Given the description of an element on the screen output the (x, y) to click on. 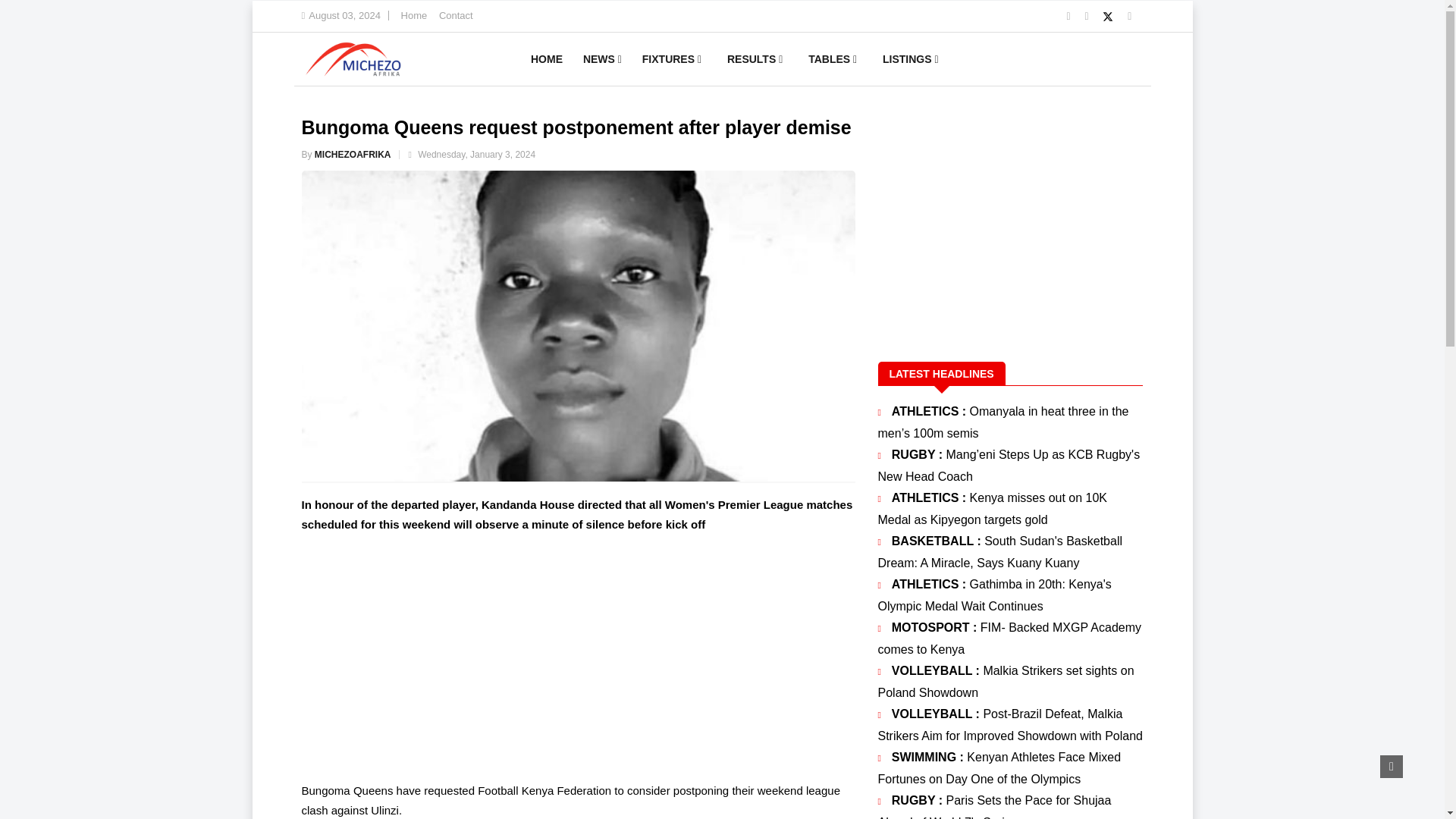
Back to Top (1391, 766)
Home (414, 15)
Advertisement (578, 655)
Advertisement (1009, 223)
HOME (546, 58)
Contact (456, 15)
NEWS (601, 58)
rss (1069, 15)
X (1109, 15)
Facebook (1087, 15)
Instagram (1128, 15)
